Given the description of an element on the screen output the (x, y) to click on. 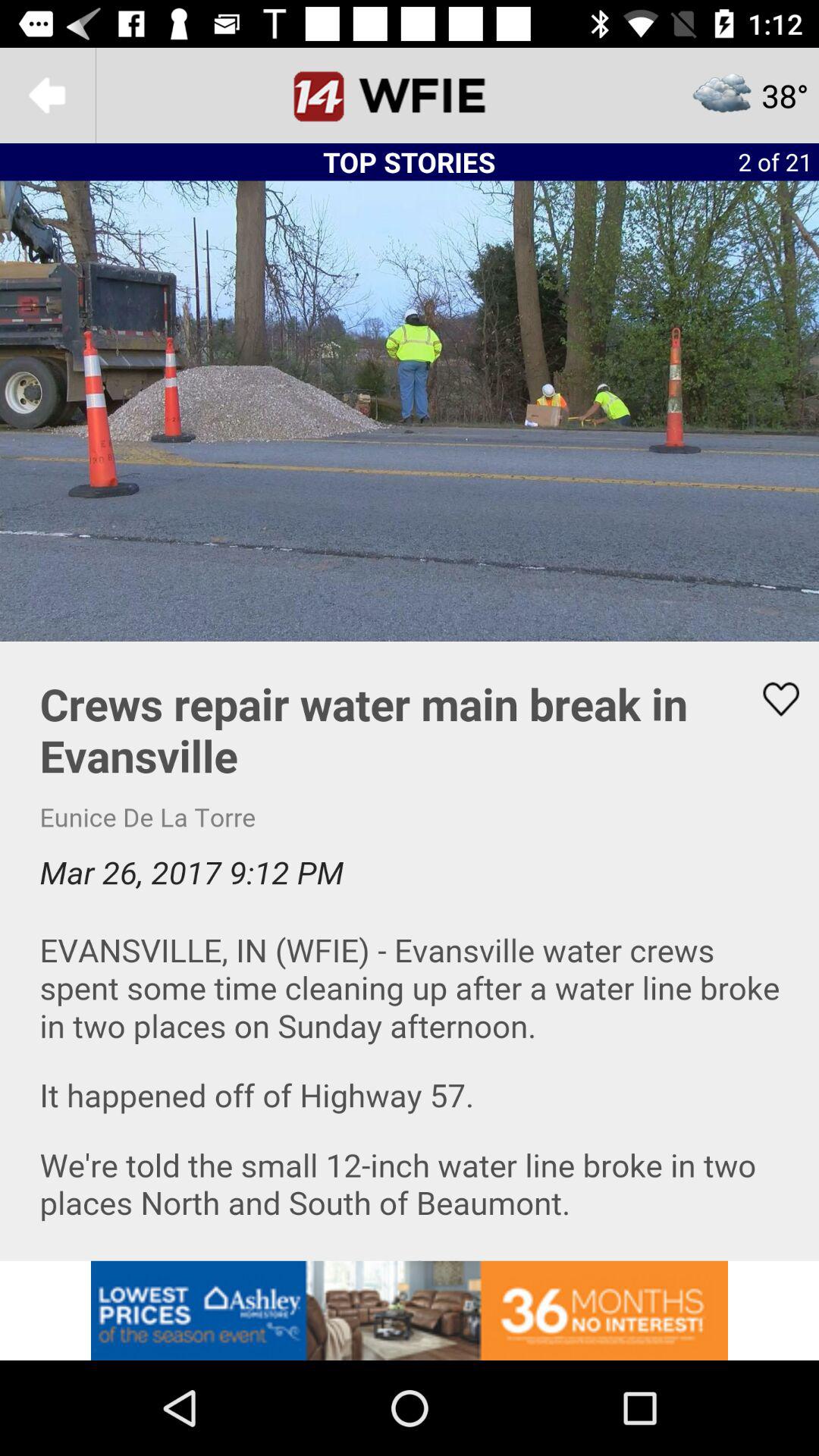
advertisement page (409, 950)
